Given the description of an element on the screen output the (x, y) to click on. 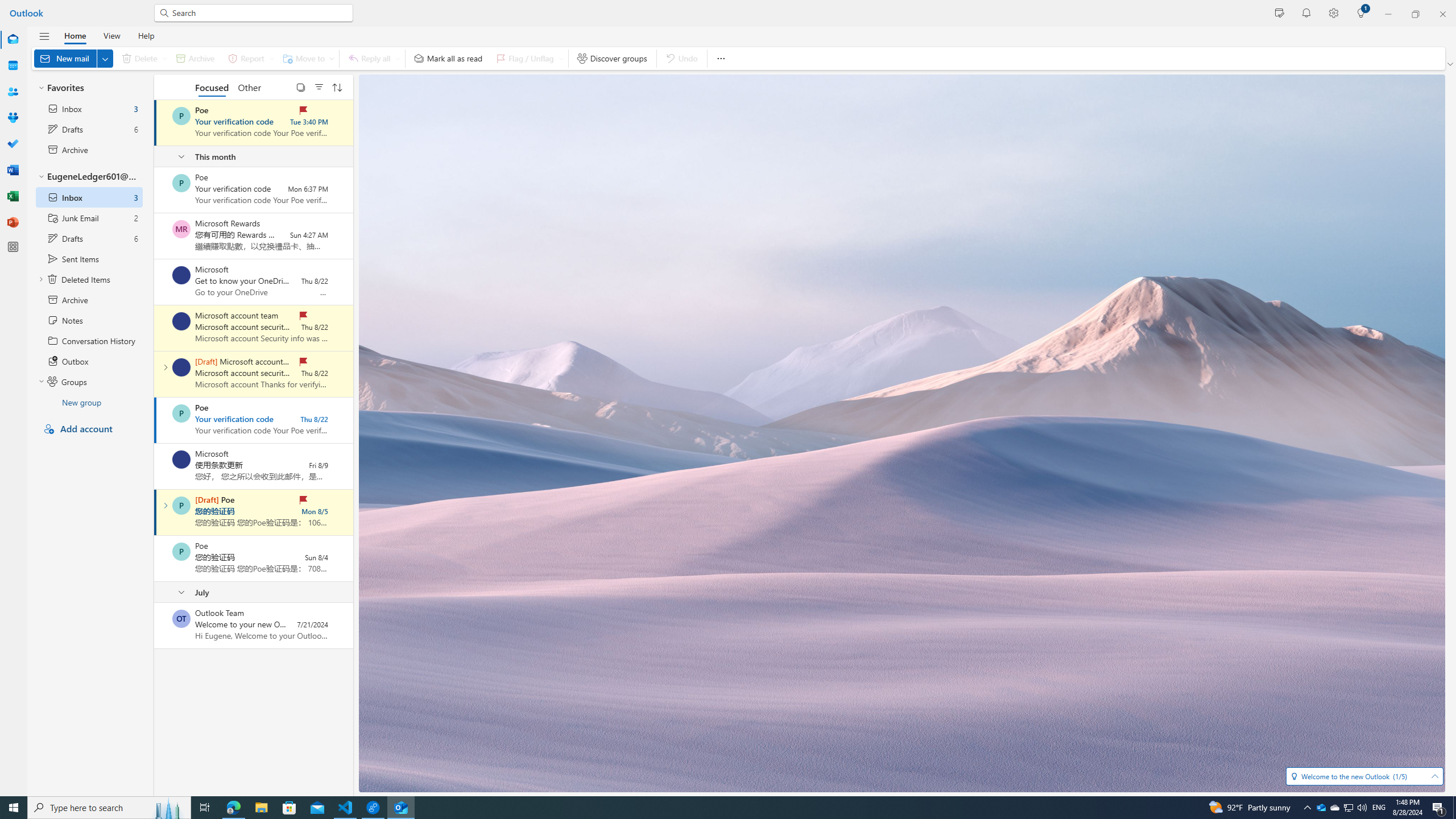
Delete (141, 58)
Focused (212, 86)
Help (146, 35)
Groups (12, 118)
